Given the description of an element on the screen output the (x, y) to click on. 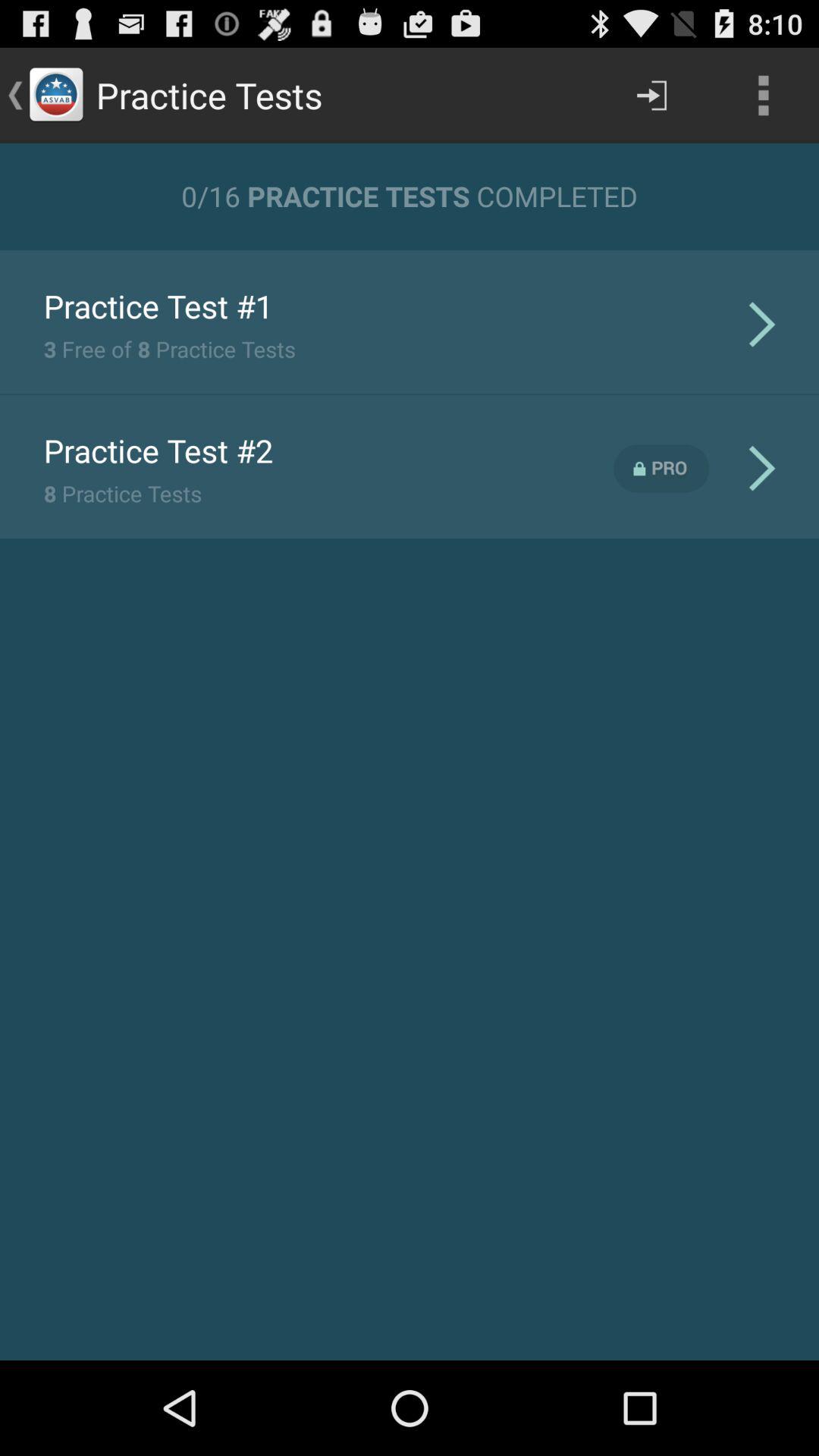
open item above practice test #1 (409, 249)
